Given the description of an element on the screen output the (x, y) to click on. 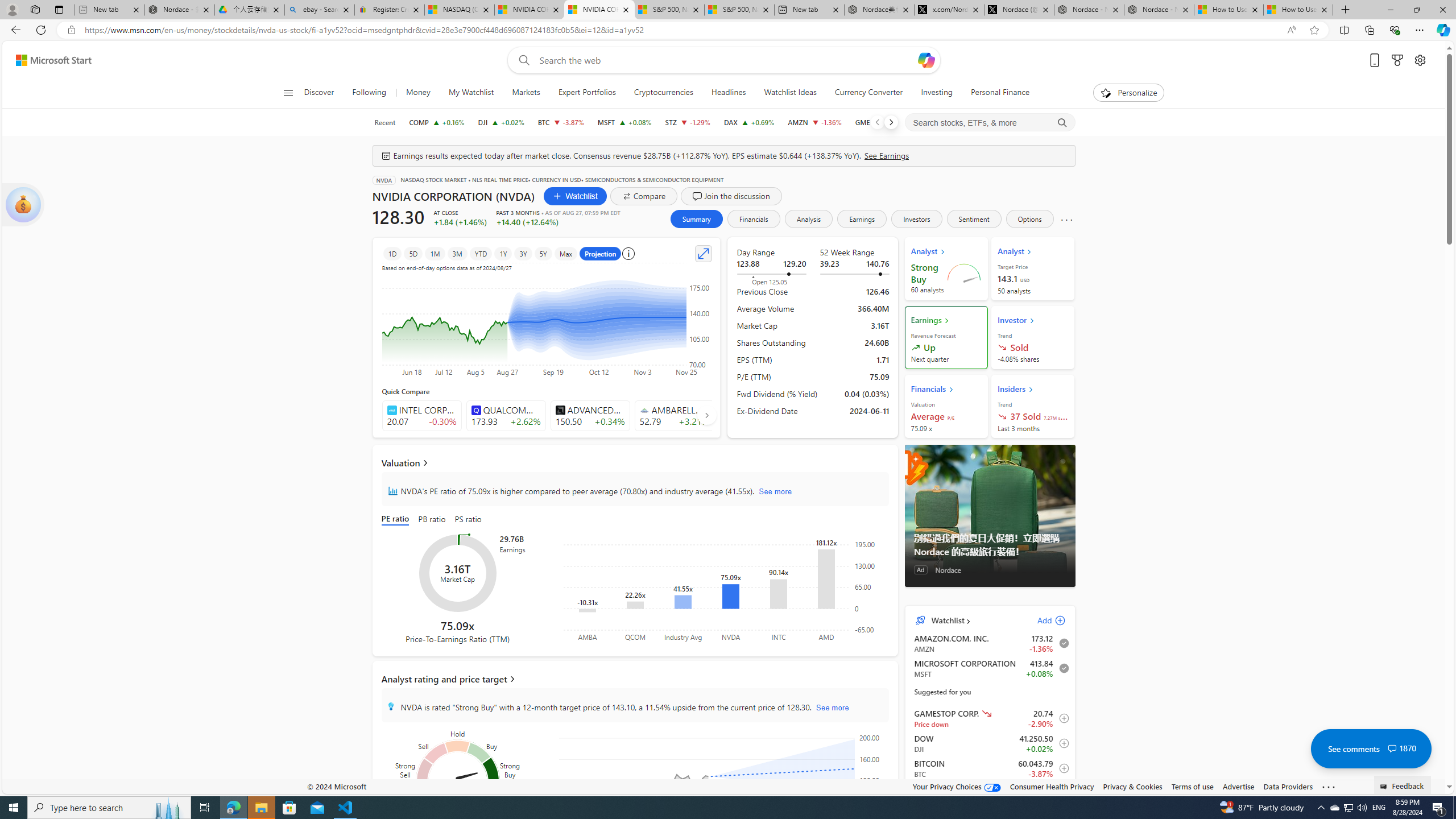
Watchlist (575, 195)
Options (1030, 218)
Max (565, 253)
Class: button-glyph (287, 92)
Expert Portfolios (586, 92)
My Watchlist (470, 92)
PS ratio (467, 520)
Watchlist (946, 620)
Previous (876, 122)
BTC Bitcoin decrease 60,043.79 -2,323.69 -3.87% (560, 122)
AMZN AMAZON.COM, INC. decrease 173.12 -2.38 -1.36% (814, 122)
